Given the description of an element on the screen output the (x, y) to click on. 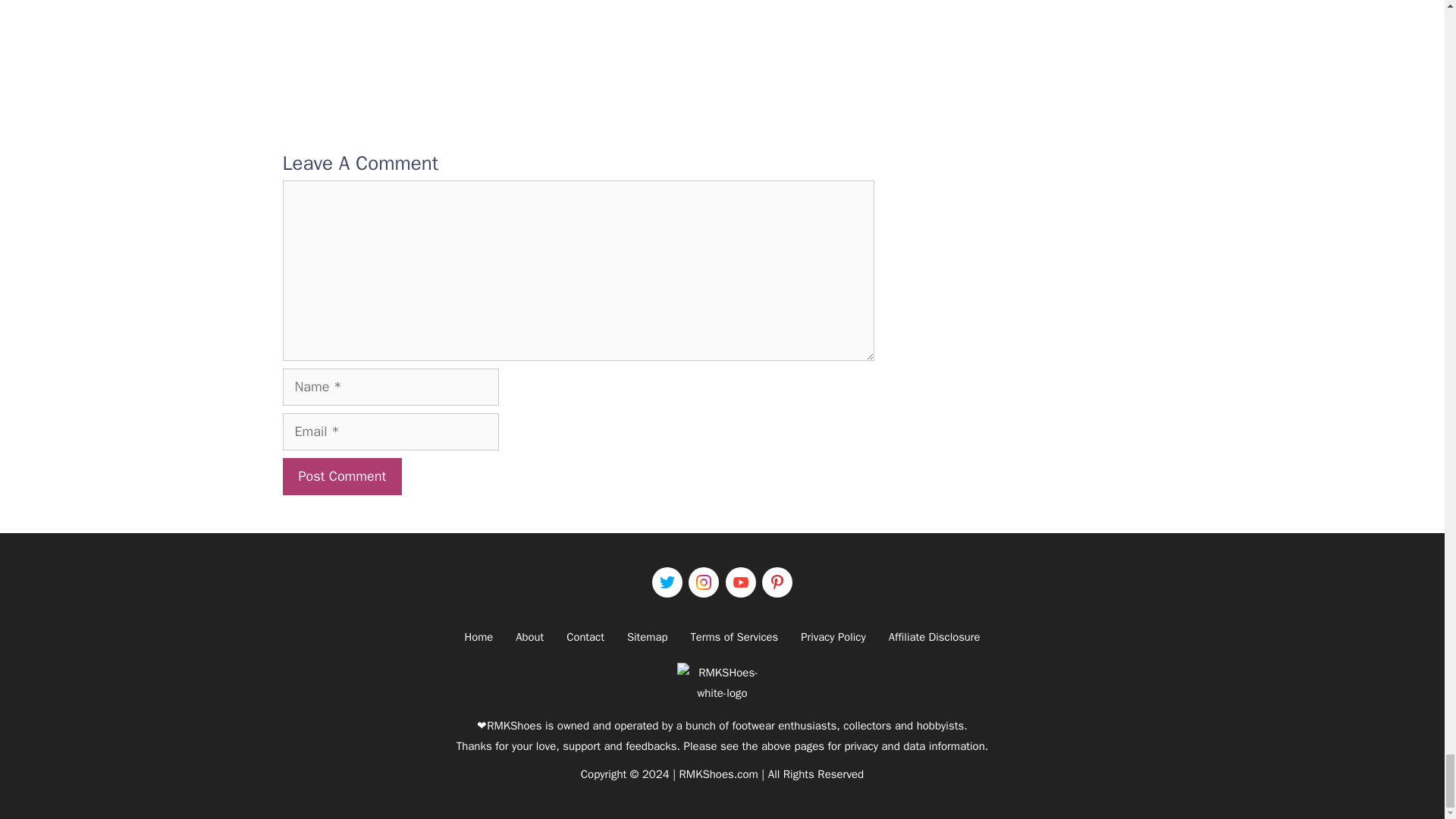
Post Comment (341, 476)
Twitter (667, 582)
Youtube (740, 582)
Instagram (703, 582)
